Given the description of an element on the screen output the (x, y) to click on. 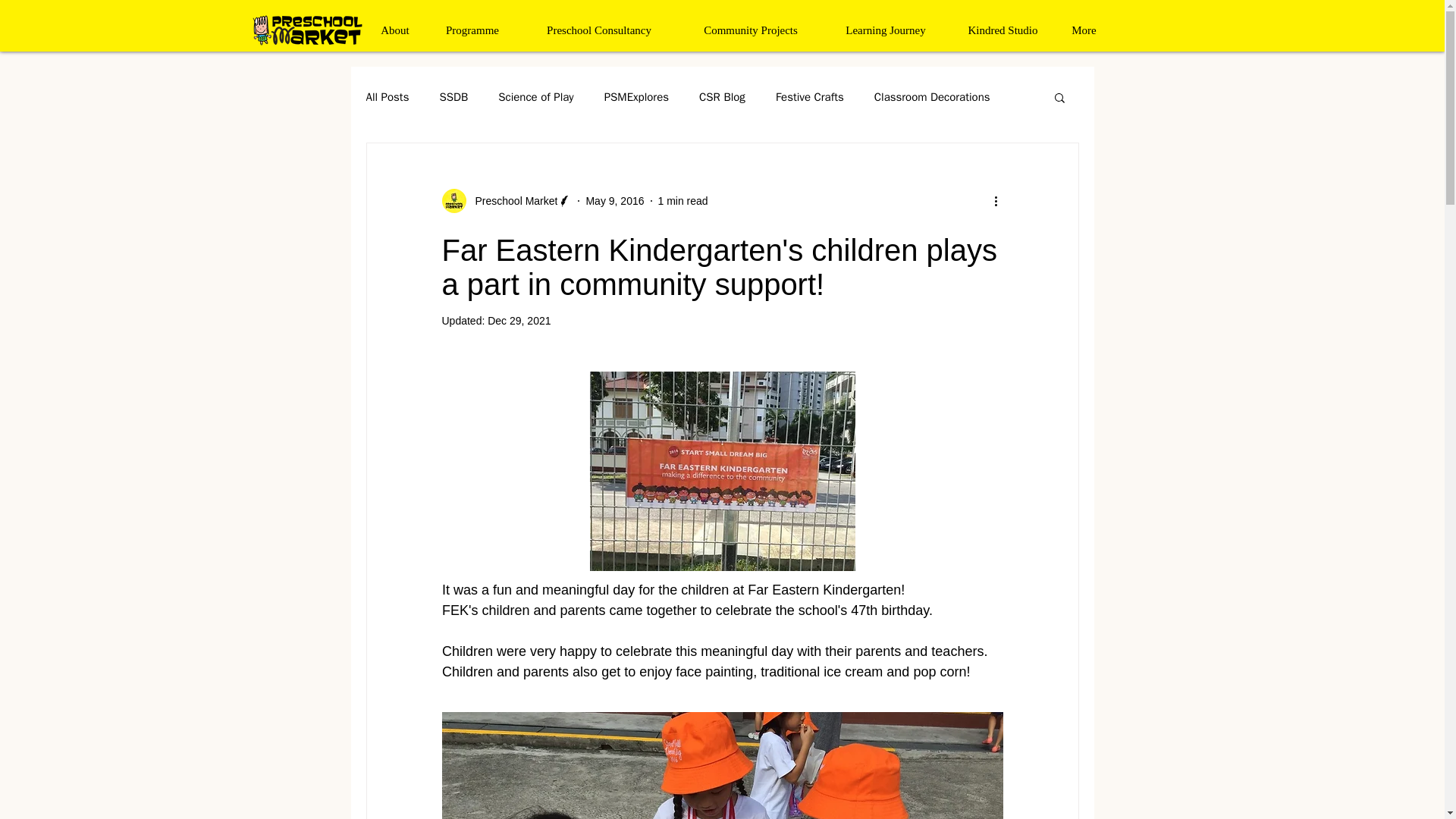
Community Projects (750, 30)
Learning Journey (886, 30)
SSDB (453, 96)
Classroom Decorations (932, 96)
Dec 29, 2021 (518, 320)
About (395, 30)
Preschool Market (511, 200)
Kindred Studio (1002, 30)
Festive Crafts (810, 96)
Preschool Consultancy (598, 30)
1 min read (682, 200)
May 9, 2016 (614, 200)
PSMExplores (636, 96)
CSR Blog (721, 96)
Science of Play (535, 96)
